Given the description of an element on the screen output the (x, y) to click on. 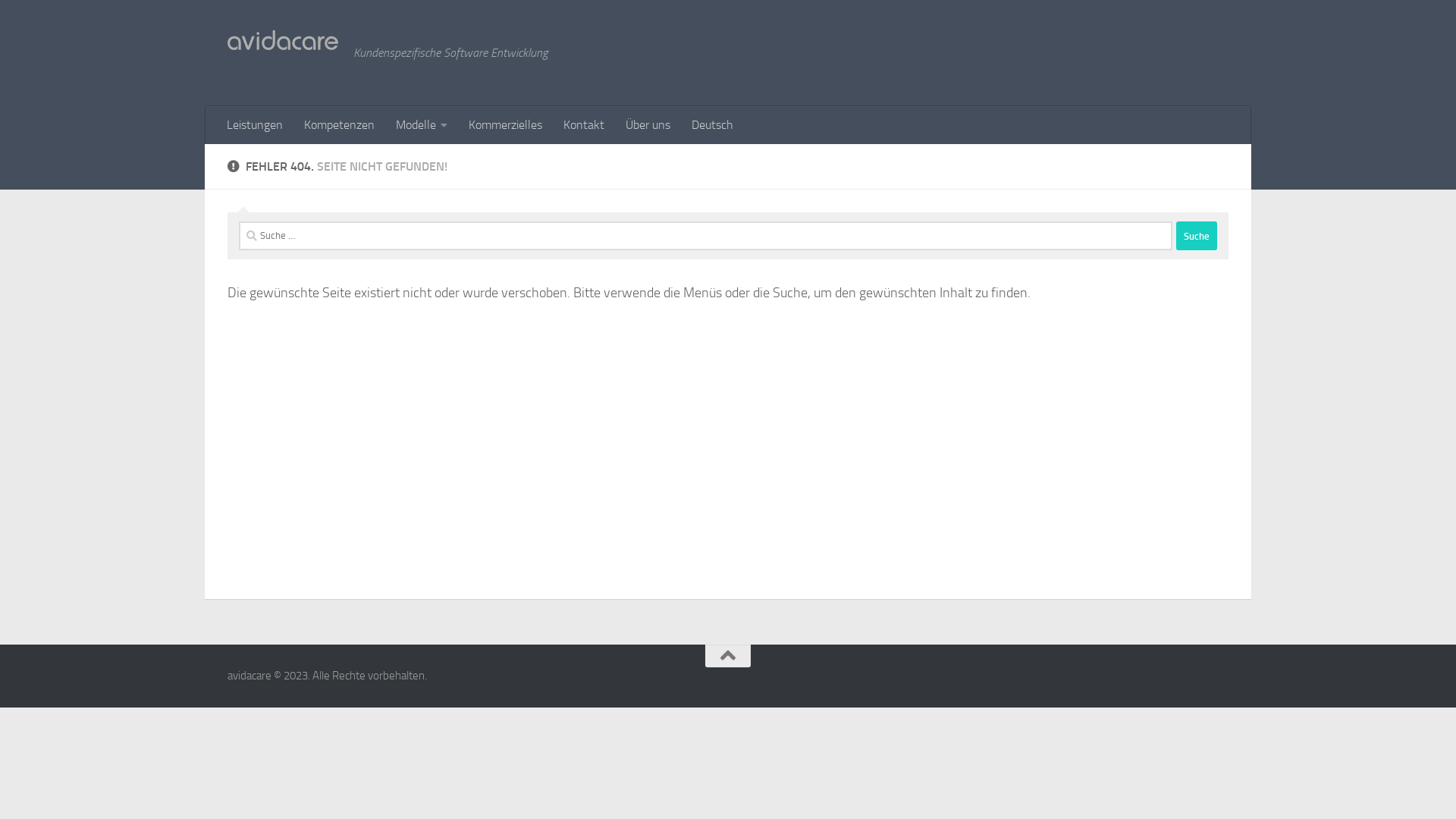
Kontakt Element type: text (583, 125)
Modelle Element type: text (421, 125)
Zum Inhalt springen Element type: text (73, 21)
Deutsch Element type: text (711, 125)
Kompetenzen Element type: text (339, 125)
avidacare | Startseite Element type: hover (282, 40)
Leistungen Element type: text (254, 125)
Kommerzielles Element type: text (505, 125)
Suche Element type: text (1196, 235)
